Given the description of an element on the screen output the (x, y) to click on. 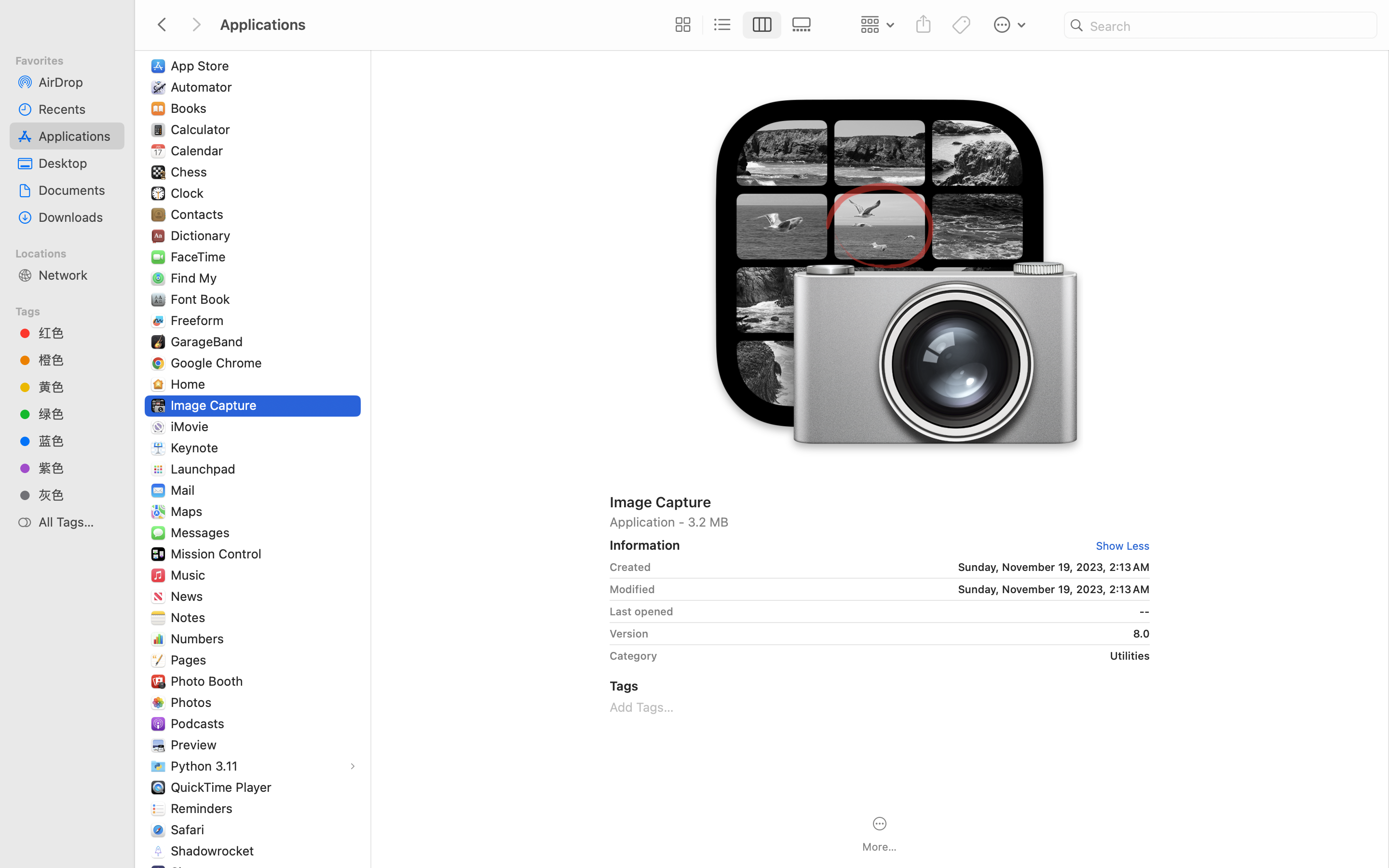
AirDrop Element type: AXStaticText (77, 81)
Created Element type: AXStaticText (630, 566)
Dictionary Element type: AXTextField (202, 235)
Tags… Element type: AXStaticText (20, 860)
Calendar Element type: AXTextField (198, 150)
